Given the description of an element on the screen output the (x, y) to click on. 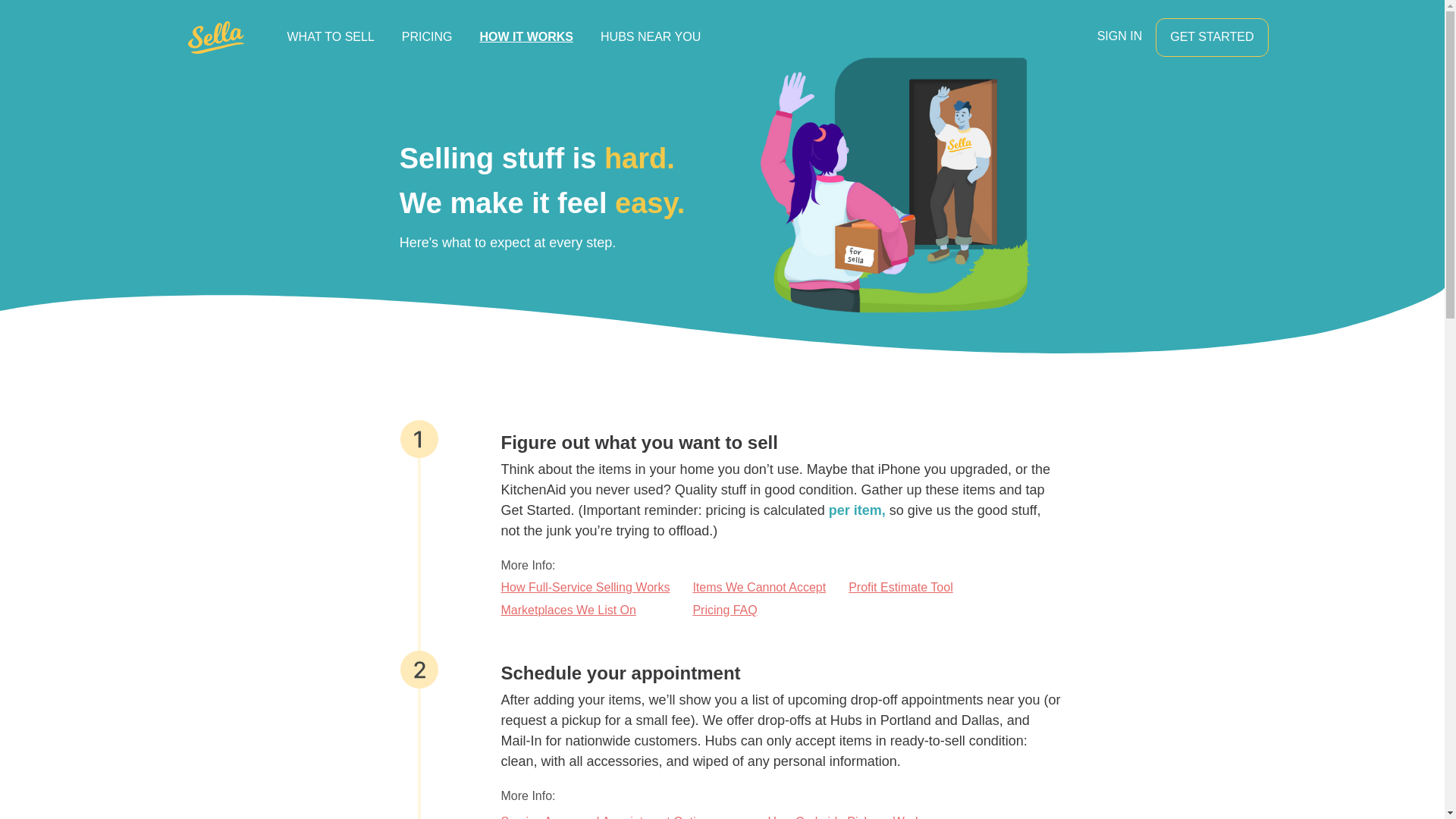
Marketplaces We List On (584, 610)
SIGN IN (1119, 36)
Pricing FAQ (759, 610)
Profit Estimate Tool (900, 587)
GET STARTED (1212, 37)
WHAT TO SELL (330, 37)
How Curbside Pickups Work (843, 816)
Items We Cannot Accept (759, 587)
HUBS NEAR YOU (650, 37)
Service Areas and Appointment Options (622, 816)
How Full-Service Selling Works (584, 587)
PRICING (426, 37)
HOW IT WORKS (525, 37)
